Given the description of an element on the screen output the (x, y) to click on. 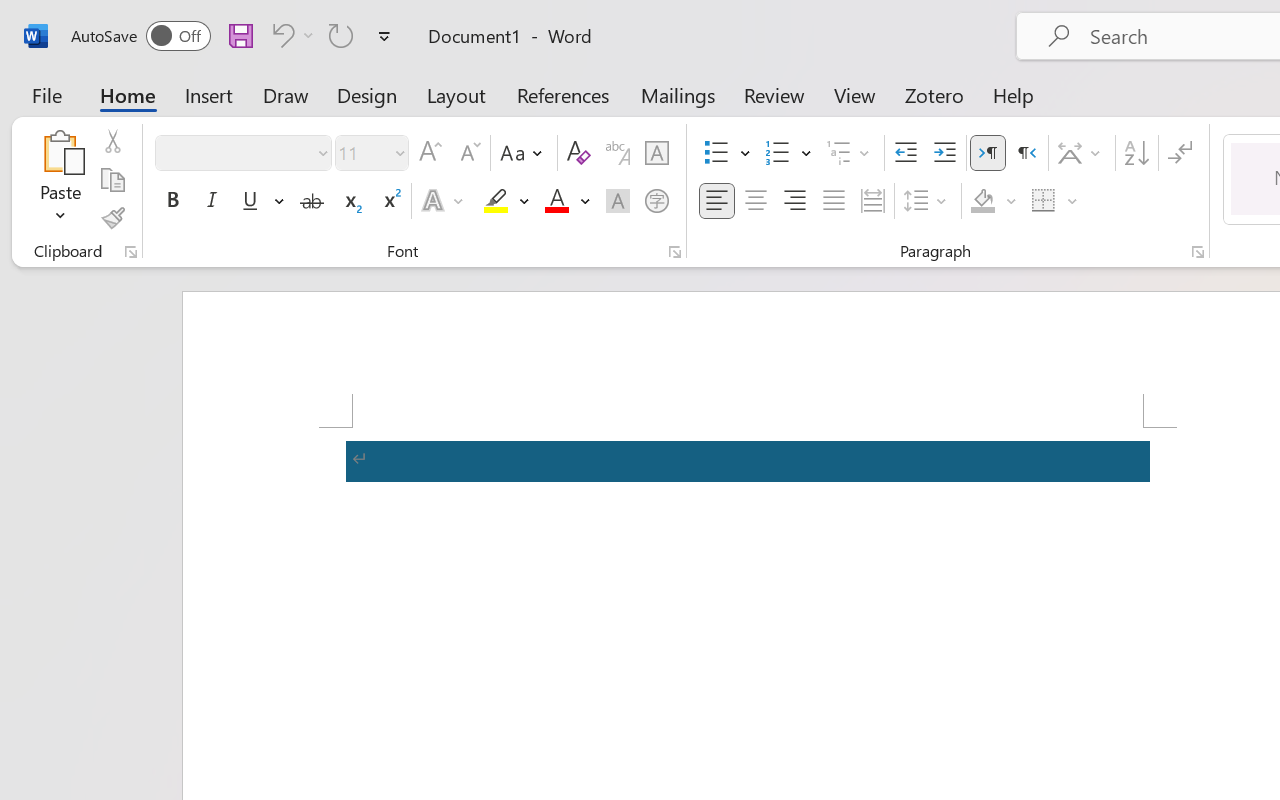
Shading No Color (982, 201)
Repeat Accessibility Checker (341, 35)
